Given the description of an element on the screen output the (x, y) to click on. 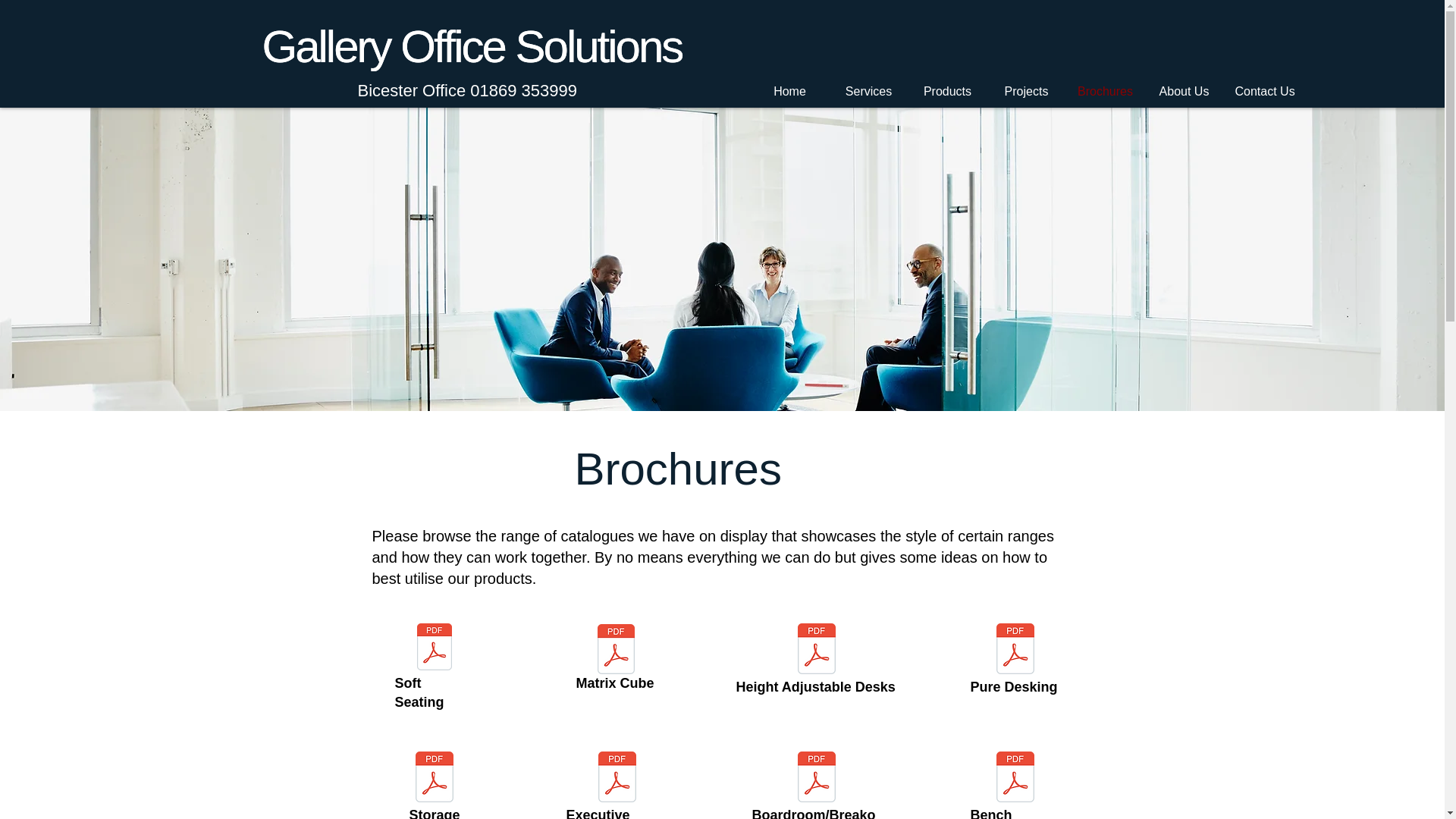
Projects (1026, 91)
Products (947, 91)
Gallery Office Solutions (472, 46)
Contact Us (1263, 91)
Brochures (1104, 91)
Services (868, 91)
Home (790, 91)
Soft Seating Brochure.pdf (434, 648)
Universal Storage Brochure.PDF (434, 778)
Brochures (678, 468)
